Given the description of an element on the screen output the (x, y) to click on. 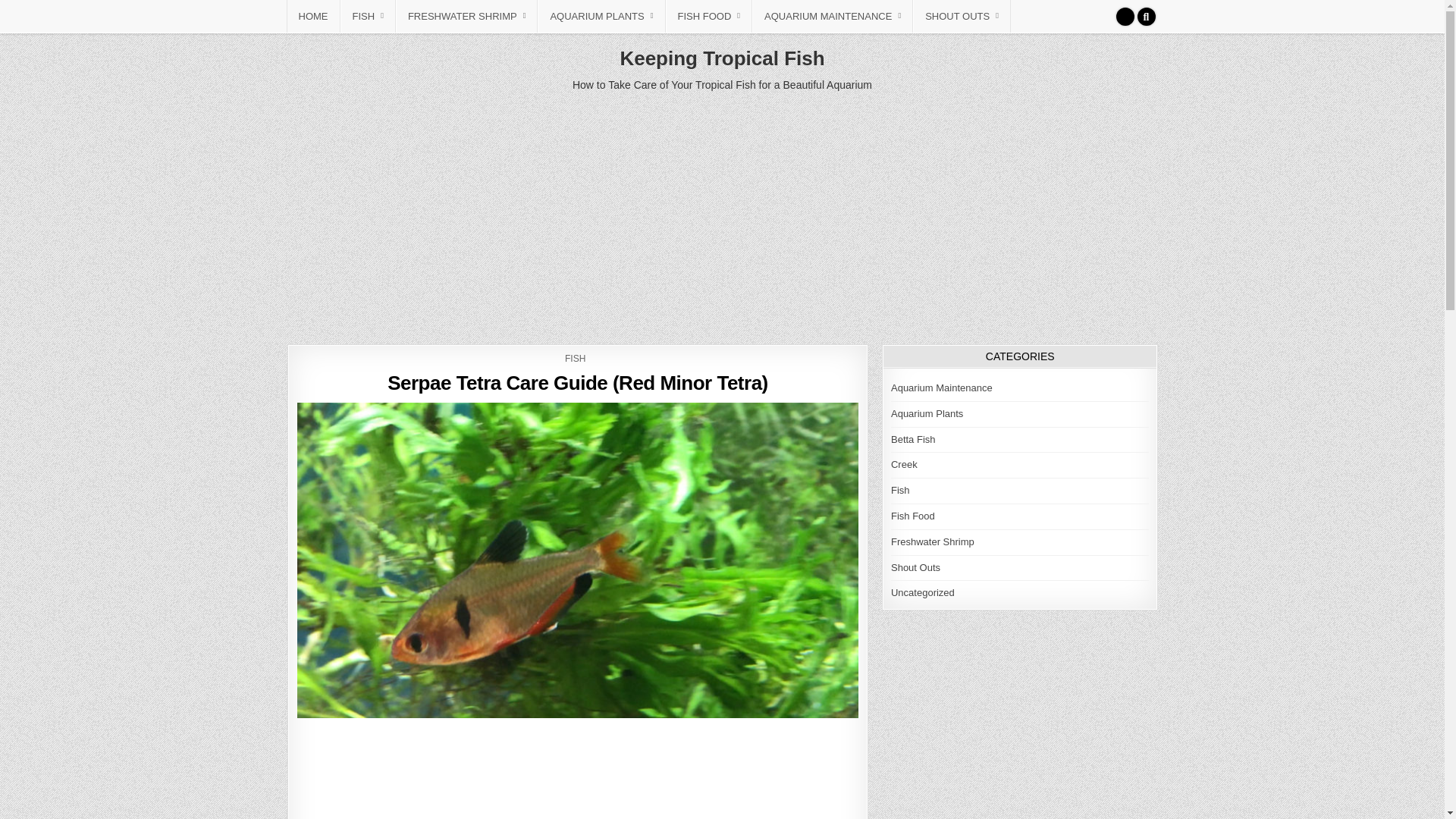
FISH (366, 16)
SHOUT OUTS (961, 16)
AQUARIUM MAINTENANCE (832, 16)
HOME (313, 16)
FRESHWATER SHRIMP (467, 16)
YouTube player (578, 772)
FISH FOOD (708, 16)
Search (1146, 16)
AQUARIUM PLANTS (601, 16)
